Given the description of an element on the screen output the (x, y) to click on. 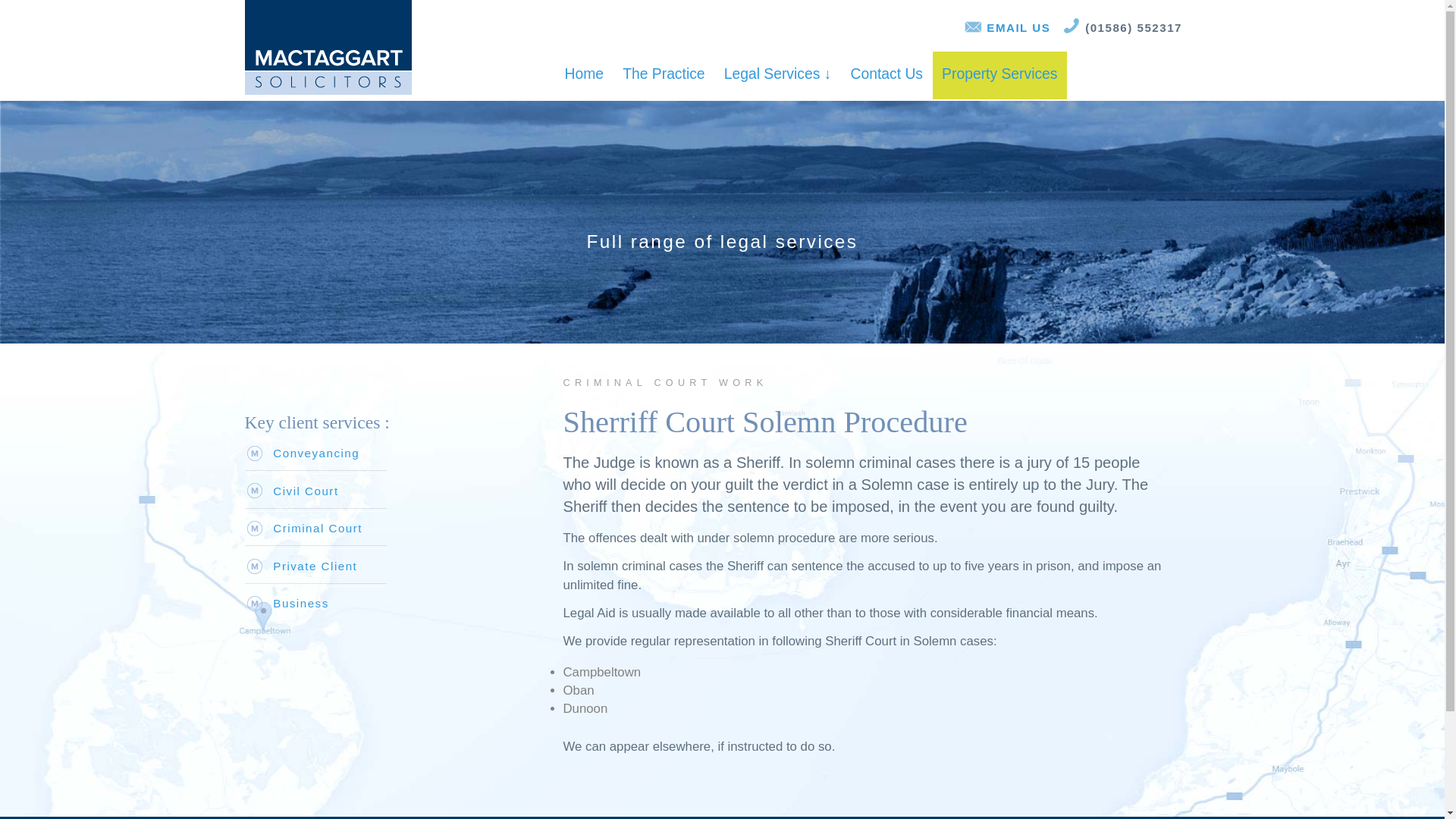
EMAIL US (1016, 27)
Criminal Court (317, 527)
Home (583, 75)
The Practice (663, 75)
Private Client (314, 565)
Property Services (1000, 75)
Contact Us (887, 75)
Conveyancing (316, 452)
Civil Court (305, 490)
